Given the description of an element on the screen output the (x, y) to click on. 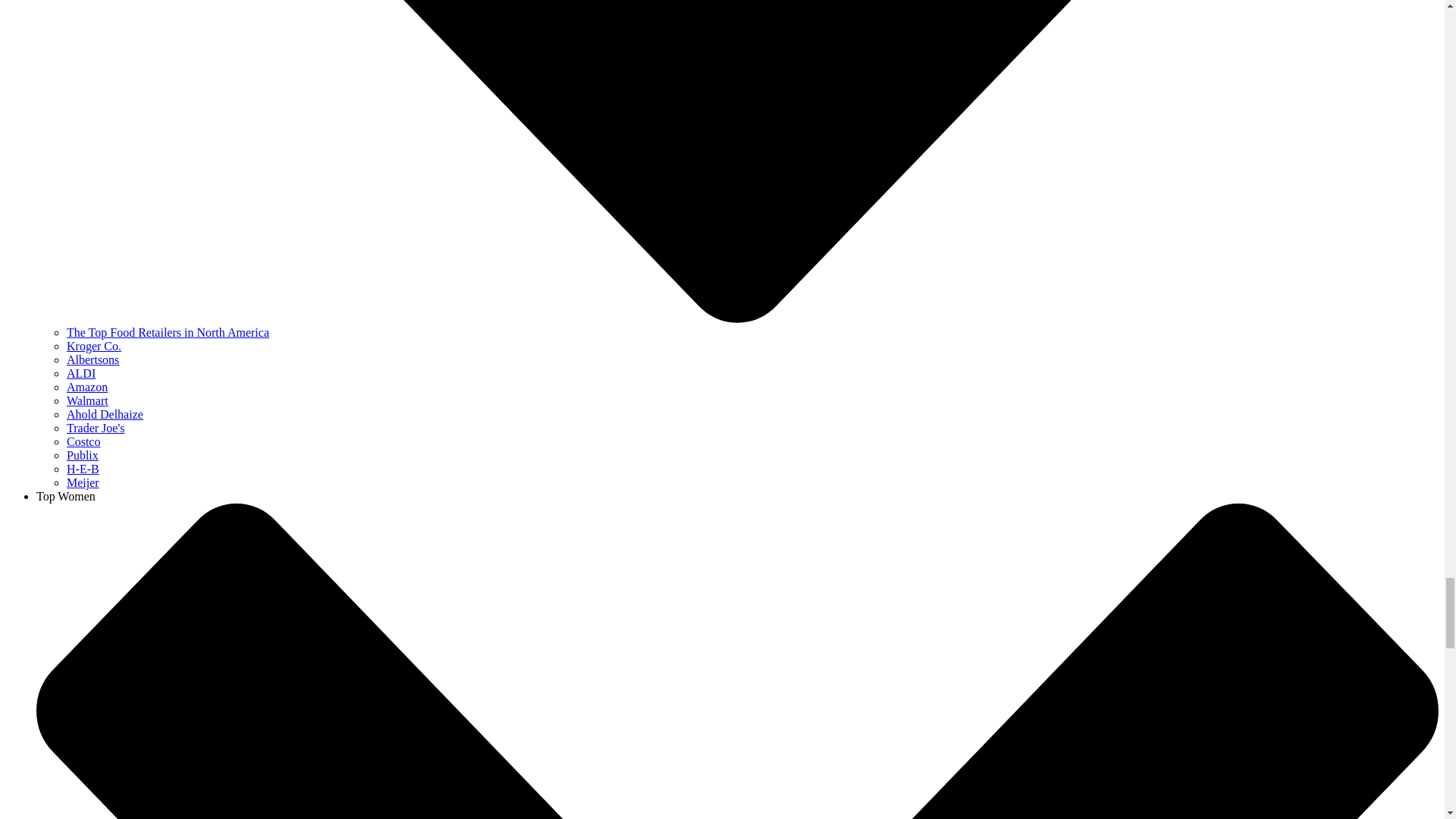
H-E-B (82, 468)
Kroger Co. (93, 345)
Amazon (86, 386)
Publix (82, 454)
Ahold Delhaize (104, 413)
Top Women (66, 495)
The Top Food Retailers in North America (167, 332)
Costco (83, 440)
Trader Joe's (95, 427)
Albertsons (92, 359)
ALDI (81, 373)
Meijer (82, 481)
Walmart (86, 400)
